Given the description of an element on the screen output the (x, y) to click on. 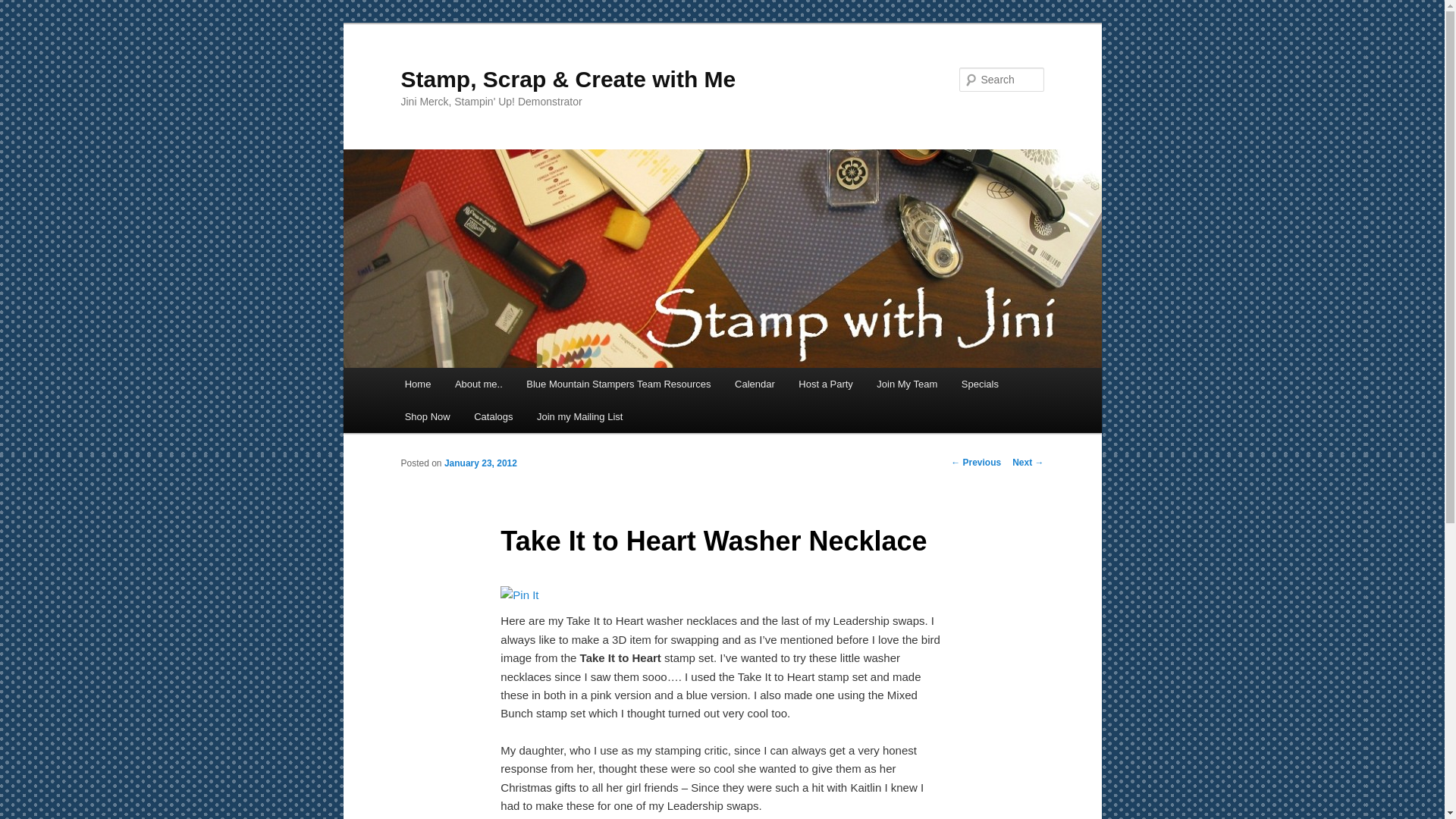
Catalogs (492, 416)
Host a Party (825, 383)
Shop Now (427, 416)
Search (24, 8)
6:51 pm (480, 462)
Join my Mailing List (579, 416)
January 23, 2012 (480, 462)
About me.. (477, 383)
Blue Mountain Stampers Team Resources (617, 383)
Specials (979, 383)
Join My Team (906, 383)
Home (417, 383)
Calendar (754, 383)
Pin It (519, 595)
